Given the description of an element on the screen output the (x, y) to click on. 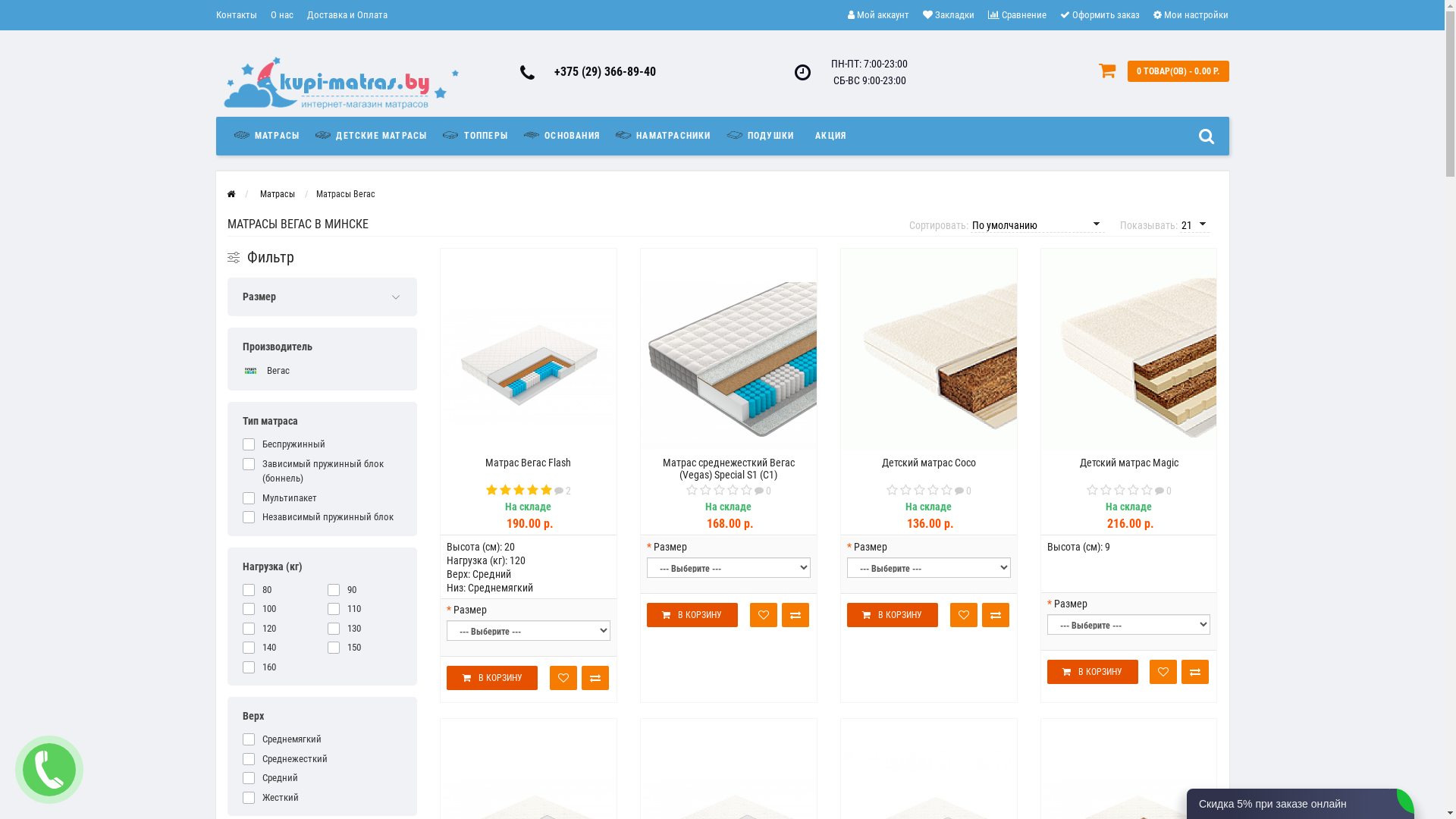
80 Element type: text (279, 589)
Kupi-matras.by Element type: hover (340, 82)
+375 (29) 366-89-40 Element type: text (604, 71)
100 Element type: text (279, 608)
110 Element type: text (364, 608)
150 Element type: text (364, 647)
130 Element type: text (364, 628)
90 Element type: text (364, 589)
120 Element type: text (279, 628)
140 Element type: text (279, 647)
160 Element type: text (279, 666)
